Given the description of an element on the screen output the (x, y) to click on. 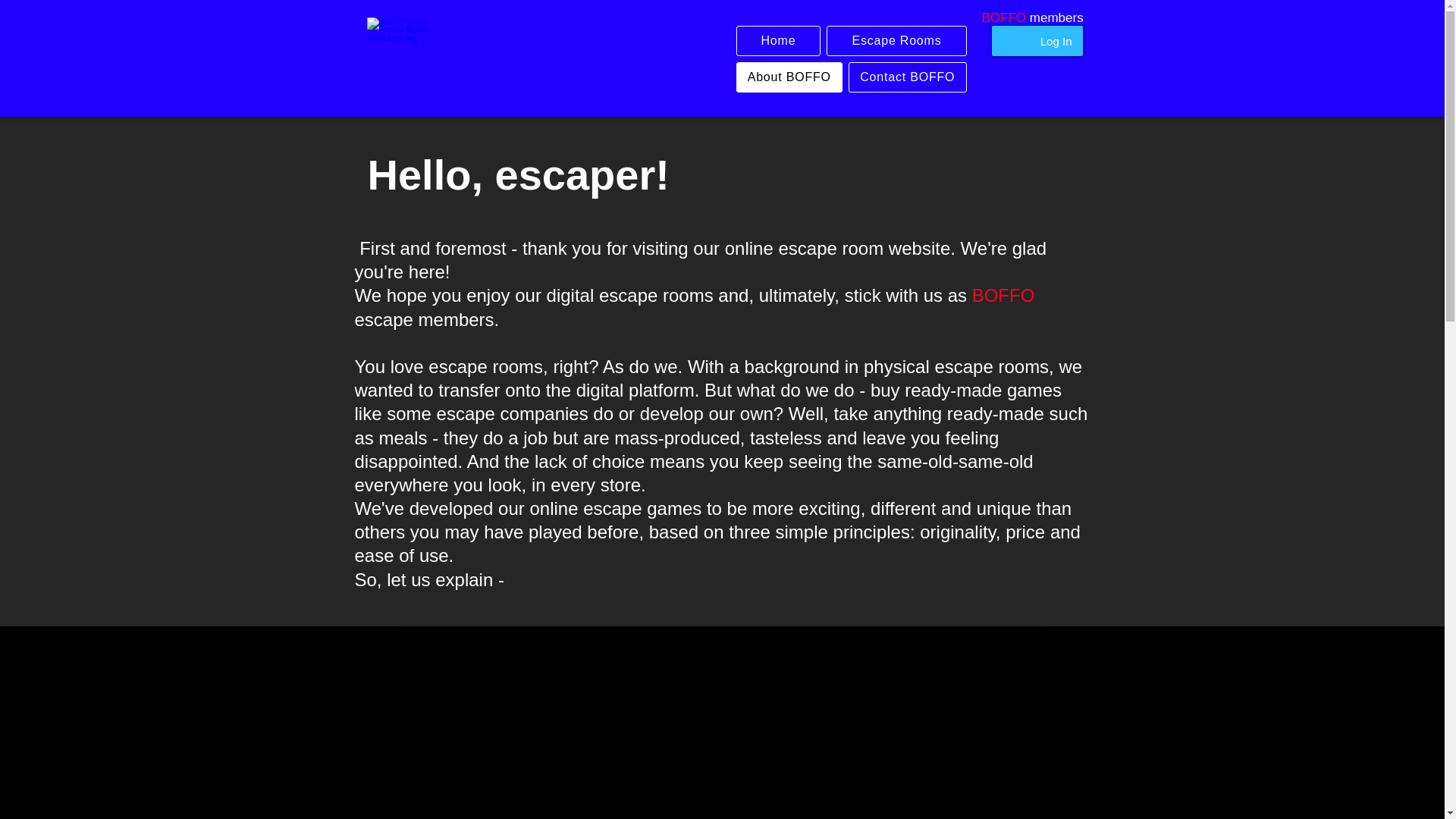
Home (778, 40)
About BOFFO (789, 77)
Escape Rooms (896, 40)
Log In (1056, 41)
Contact BOFFO (907, 77)
